Given the description of an element on the screen output the (x, y) to click on. 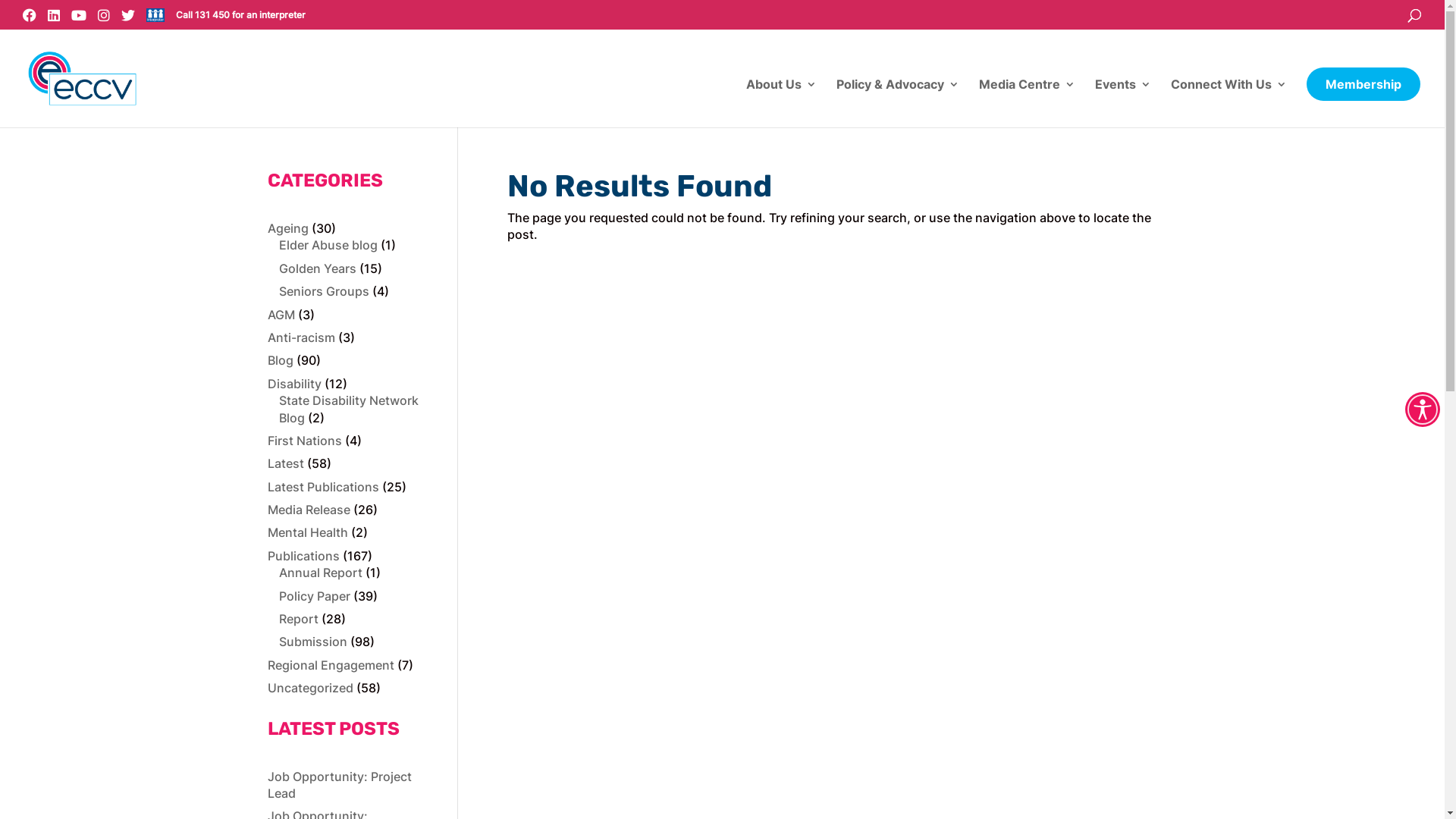
State Disability Network Blog Element type: text (348, 408)
Seniors Groups Element type: text (324, 290)
Call 131 450 for an interpreter Element type: text (240, 14)
Golden Years Element type: text (317, 268)
Latest Publications Element type: text (322, 486)
Media Release Element type: text (307, 509)
Annual Report Element type: text (320, 572)
Media Centre Element type: text (1027, 102)
Events Element type: text (1123, 102)
Job Opportunity: Project Lead Element type: text (338, 784)
Blog Element type: text (279, 359)
About Us Element type: text (781, 102)
Latest Element type: text (284, 462)
Mental Health Element type: text (306, 531)
Anti-racism Element type: text (300, 337)
Regional Engagement Element type: text (329, 664)
Publications Element type: text (302, 555)
Ageing Element type: text (286, 227)
Policy Paper Element type: text (314, 595)
Report Element type: text (298, 618)
Disability Element type: text (293, 383)
Uncategorized Element type: text (309, 687)
Submission Element type: text (313, 641)
AGM Element type: text (280, 314)
Policy & Advocacy Element type: text (897, 102)
First Nations Element type: text (303, 440)
Elder Abuse blog Element type: text (328, 244)
Connect With Us Element type: text (1228, 102)
Membership Element type: text (1363, 83)
